Given the description of an element on the screen output the (x, y) to click on. 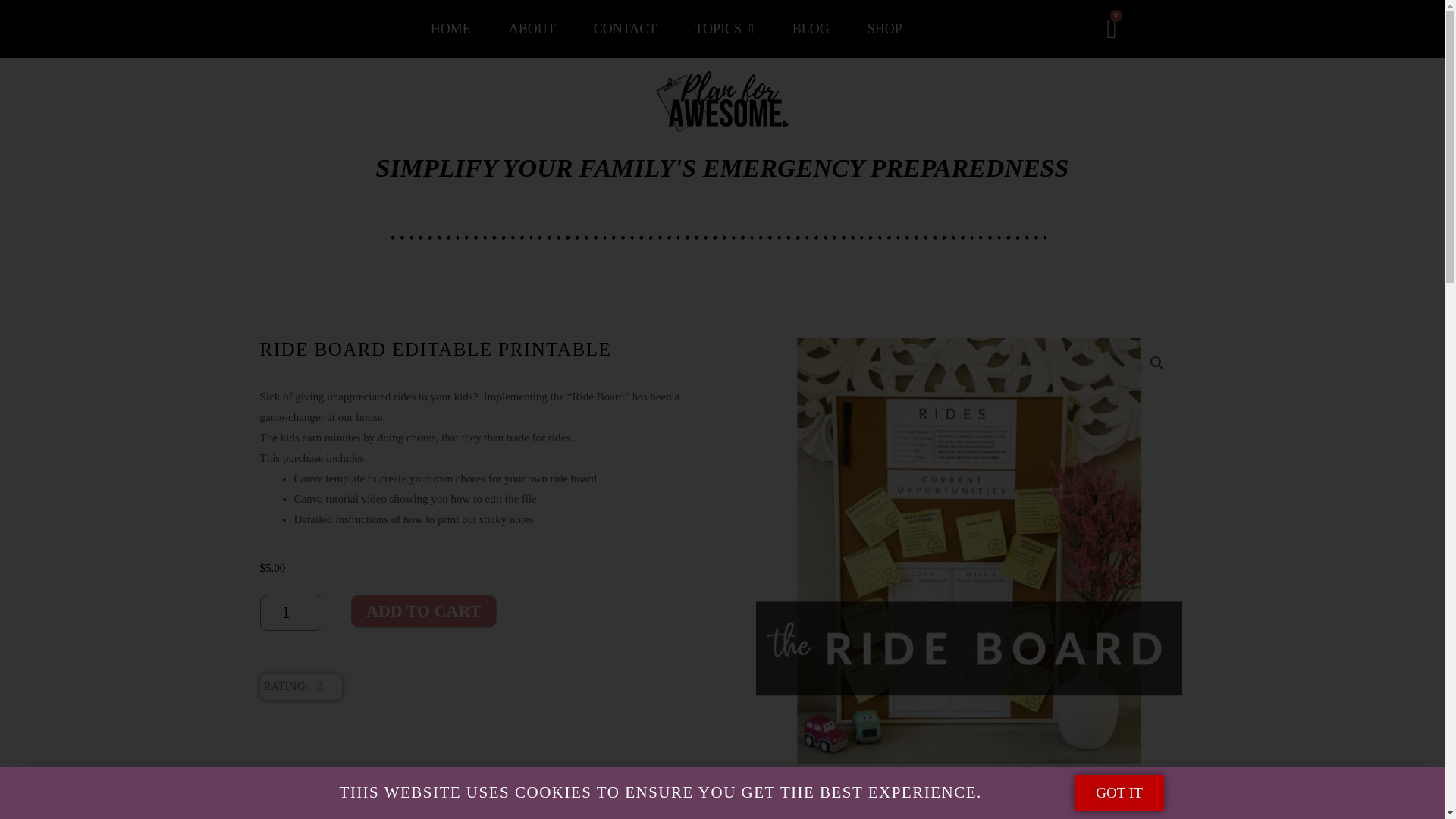
CONTACT (625, 28)
HOME (450, 28)
1 (291, 612)
ABOUT (531, 28)
SHOP (884, 28)
BLOG (810, 28)
TOPICS (724, 28)
